Given the description of an element on the screen output the (x, y) to click on. 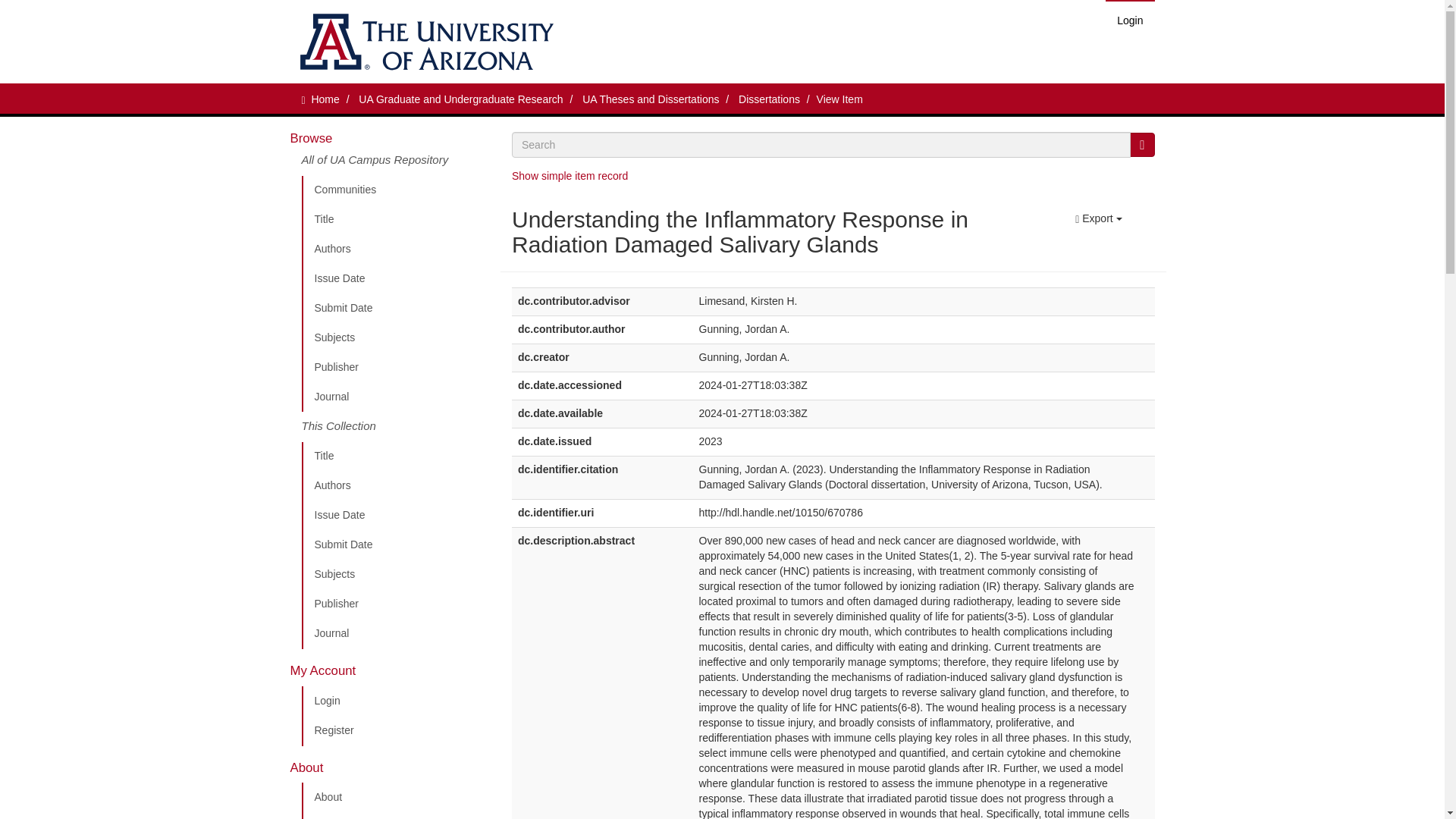
Authors (395, 485)
Journal (395, 634)
Journal (395, 397)
Home (325, 99)
Submit Date (395, 308)
Publisher (395, 367)
This Collection (395, 426)
Submit Date (395, 544)
All of UA Campus Repository (395, 164)
UA Theses and Dissertations (650, 99)
Publisher (395, 603)
Title (395, 219)
Login (395, 701)
Subjects (395, 574)
Title (395, 456)
